Given the description of an element on the screen output the (x, y) to click on. 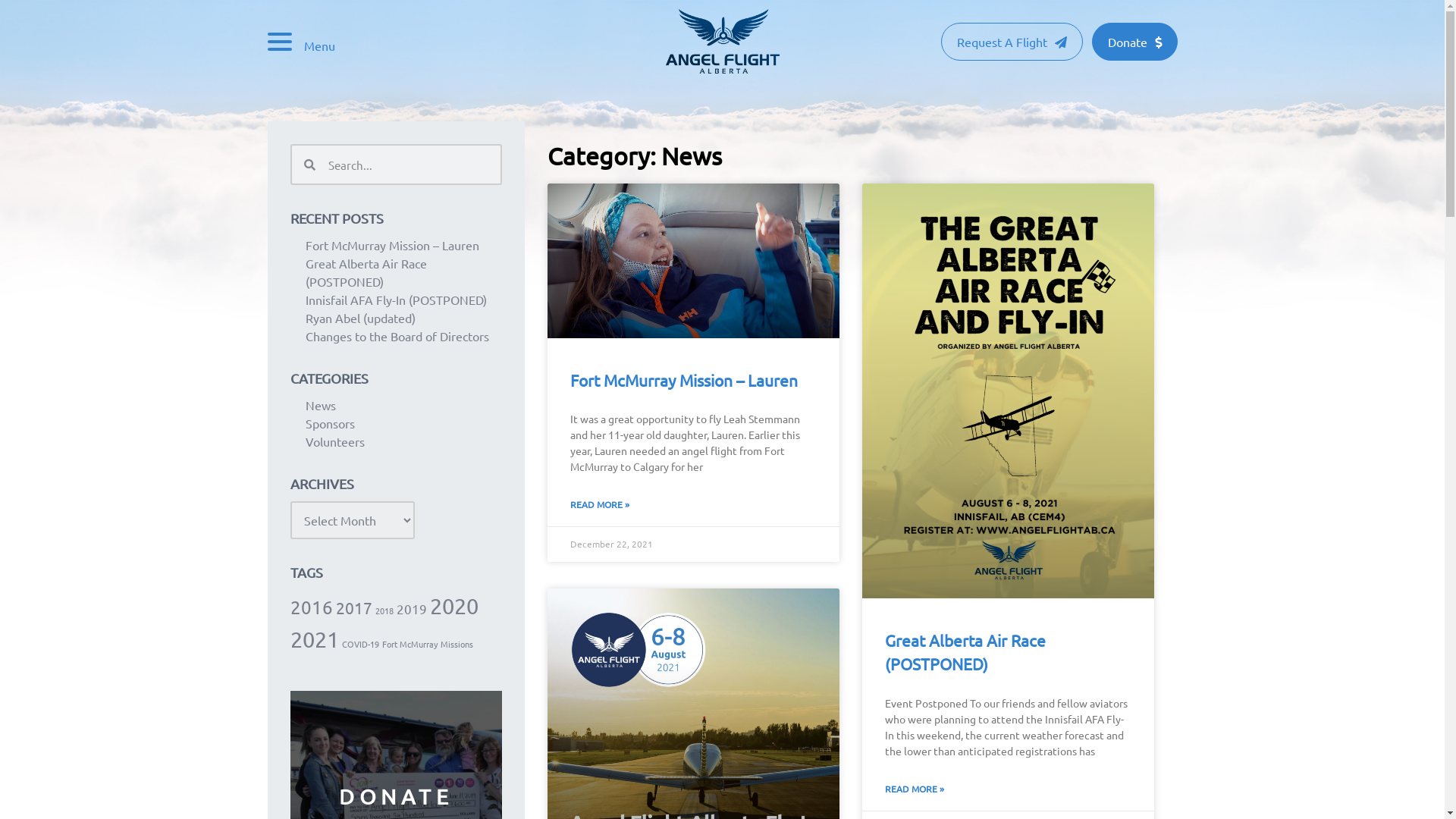
Volunteers Element type: text (334, 440)
COVID-19 Element type: text (359, 643)
News Element type: text (319, 404)
2017 Element type: text (353, 607)
Changes to the Board of Directors Element type: text (396, 335)
Missions Element type: text (455, 643)
2019 Element type: text (410, 608)
2021 Element type: text (313, 639)
Ryan Abel (updated) Element type: text (359, 317)
Great Alberta Air Race (POSTPONED) Element type: text (964, 651)
2020 Element type: text (453, 605)
2016 Element type: text (310, 607)
Innisfail AFA Fly-In (POSTPONED) Element type: text (395, 299)
Great Alberta Air Race (POSTPONED) Element type: text (365, 271)
Menu Element type: text (300, 43)
2018 Element type: text (383, 610)
Donate Element type: text (1134, 41)
Sponsors Element type: text (329, 422)
Request A Flight Element type: text (1011, 41)
Fort McMurray Element type: text (409, 643)
